Given the description of an element on the screen output the (x, y) to click on. 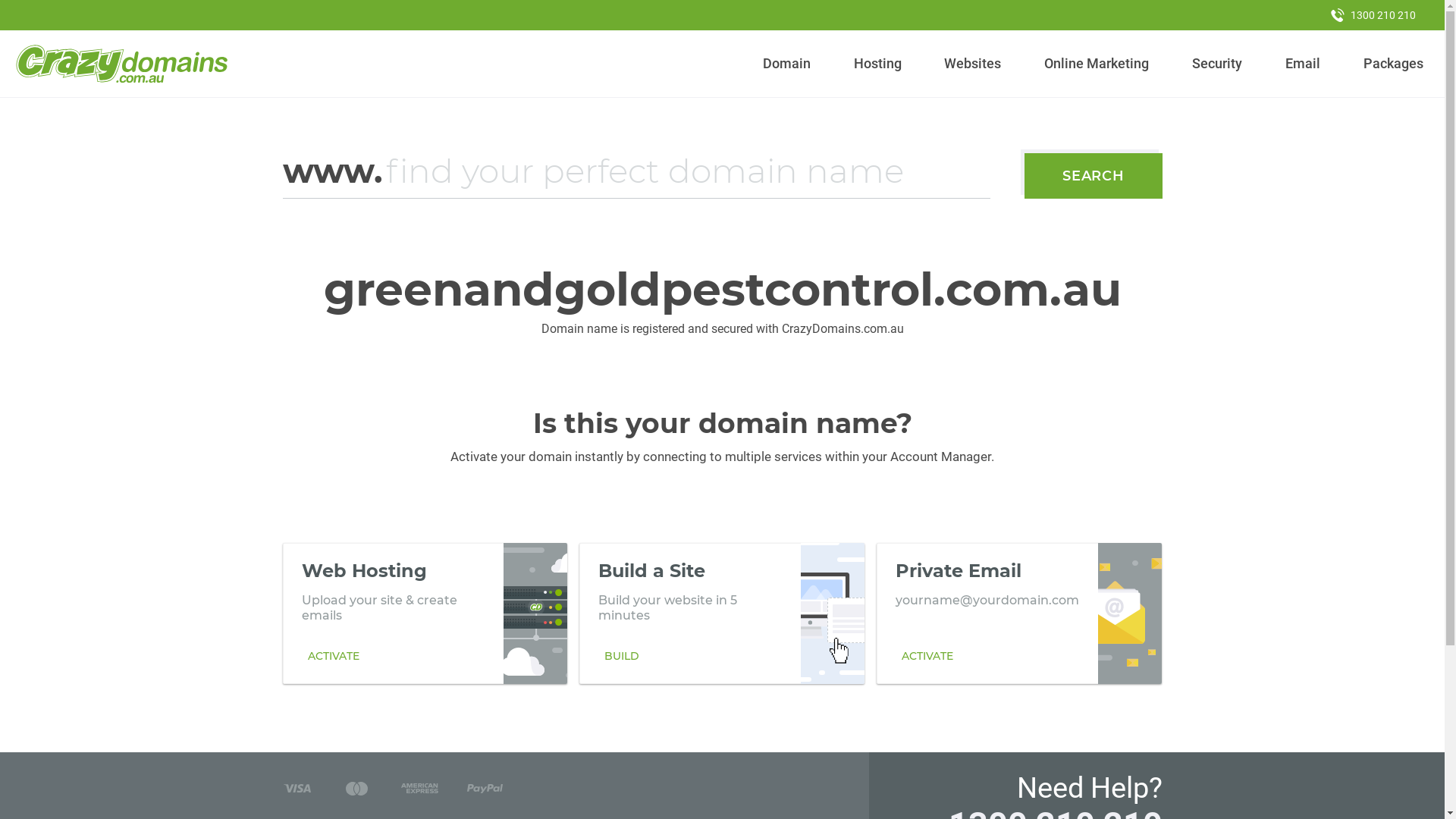
Private Email
yourname@yourdomain.com
ACTIVATE Element type: text (1018, 613)
Domain Element type: text (786, 63)
Websites Element type: text (972, 63)
1300 210 210 Element type: text (1373, 15)
Build a Site
Build your website in 5 minutes
BUILD Element type: text (721, 613)
Email Element type: text (1302, 63)
Web Hosting
Upload your site & create emails
ACTIVATE Element type: text (424, 613)
Online Marketing Element type: text (1096, 63)
Packages Element type: text (1392, 63)
Hosting Element type: text (877, 63)
Security Element type: text (1217, 63)
SEARCH Element type: text (1092, 175)
